Given the description of an element on the screen output the (x, y) to click on. 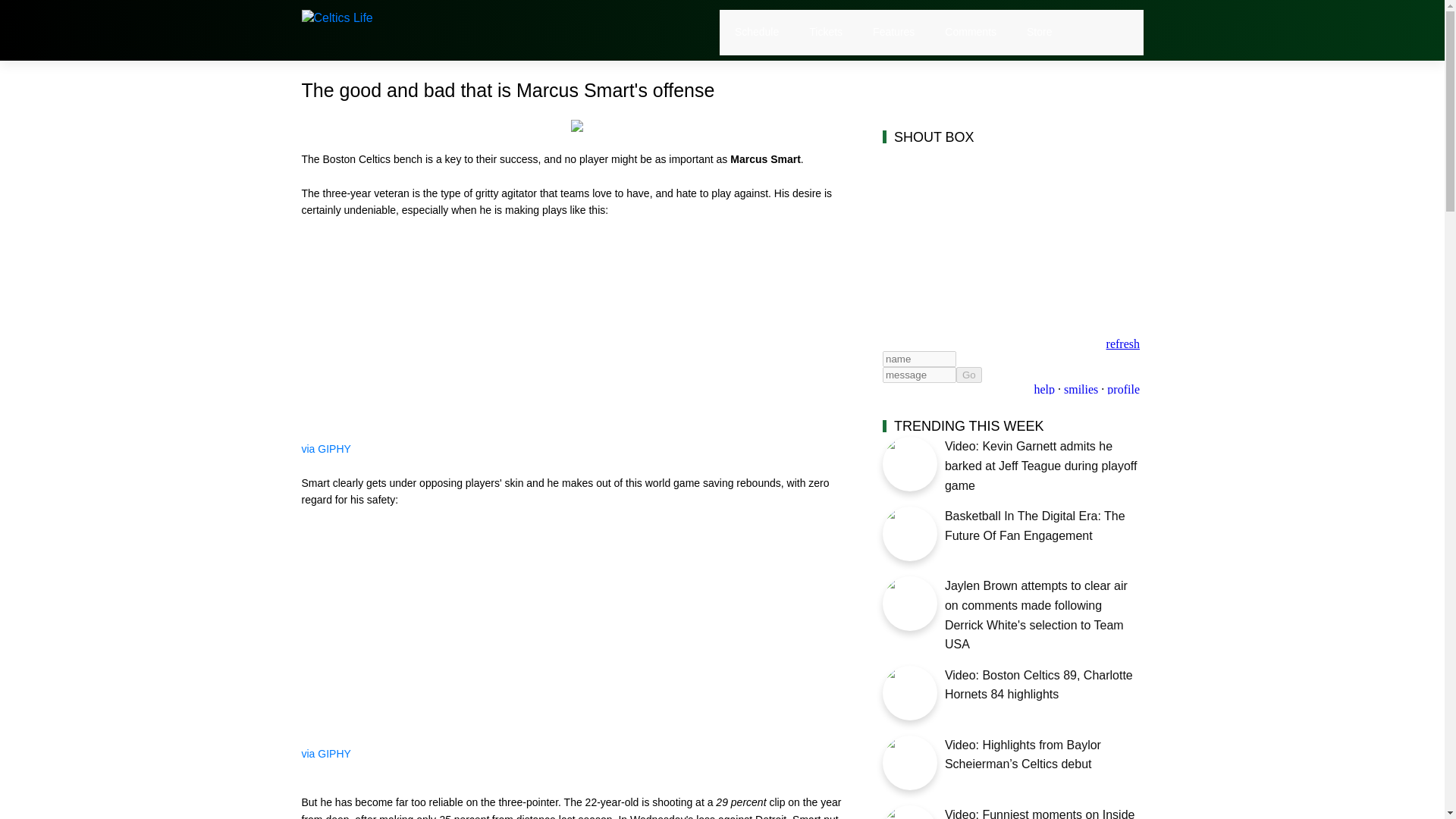
Features (893, 32)
via GIPHY (325, 449)
Comments (969, 32)
Schedule (756, 32)
Store (1038, 32)
Tickets (826, 32)
via GIPHY (325, 753)
